Given the description of an element on the screen output the (x, y) to click on. 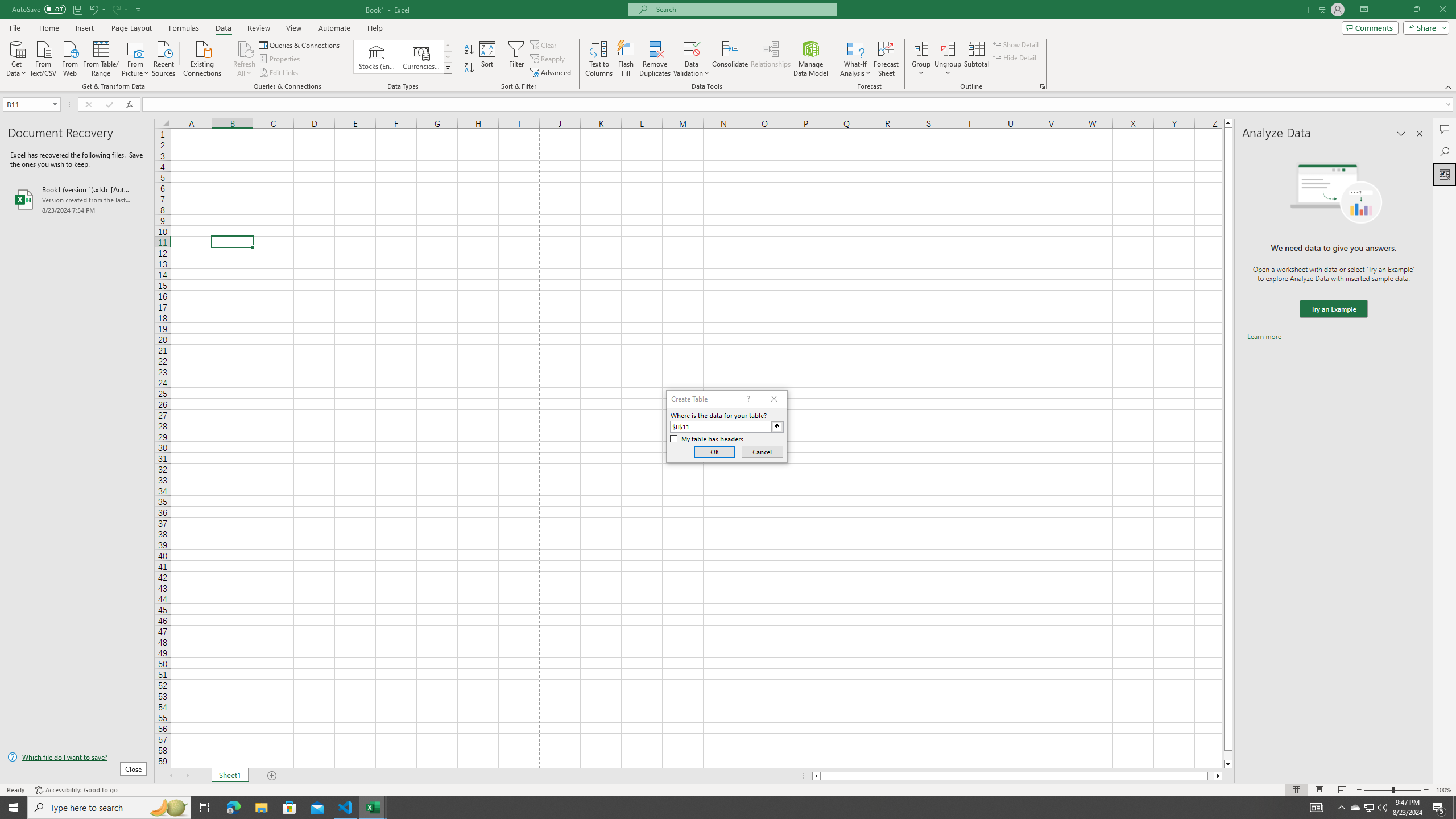
Subtotal (976, 58)
Manage Data Model (810, 58)
Sort A to Z (469, 49)
Existing Connections (202, 57)
From Text/CSV (43, 57)
